Given the description of an element on the screen output the (x, y) to click on. 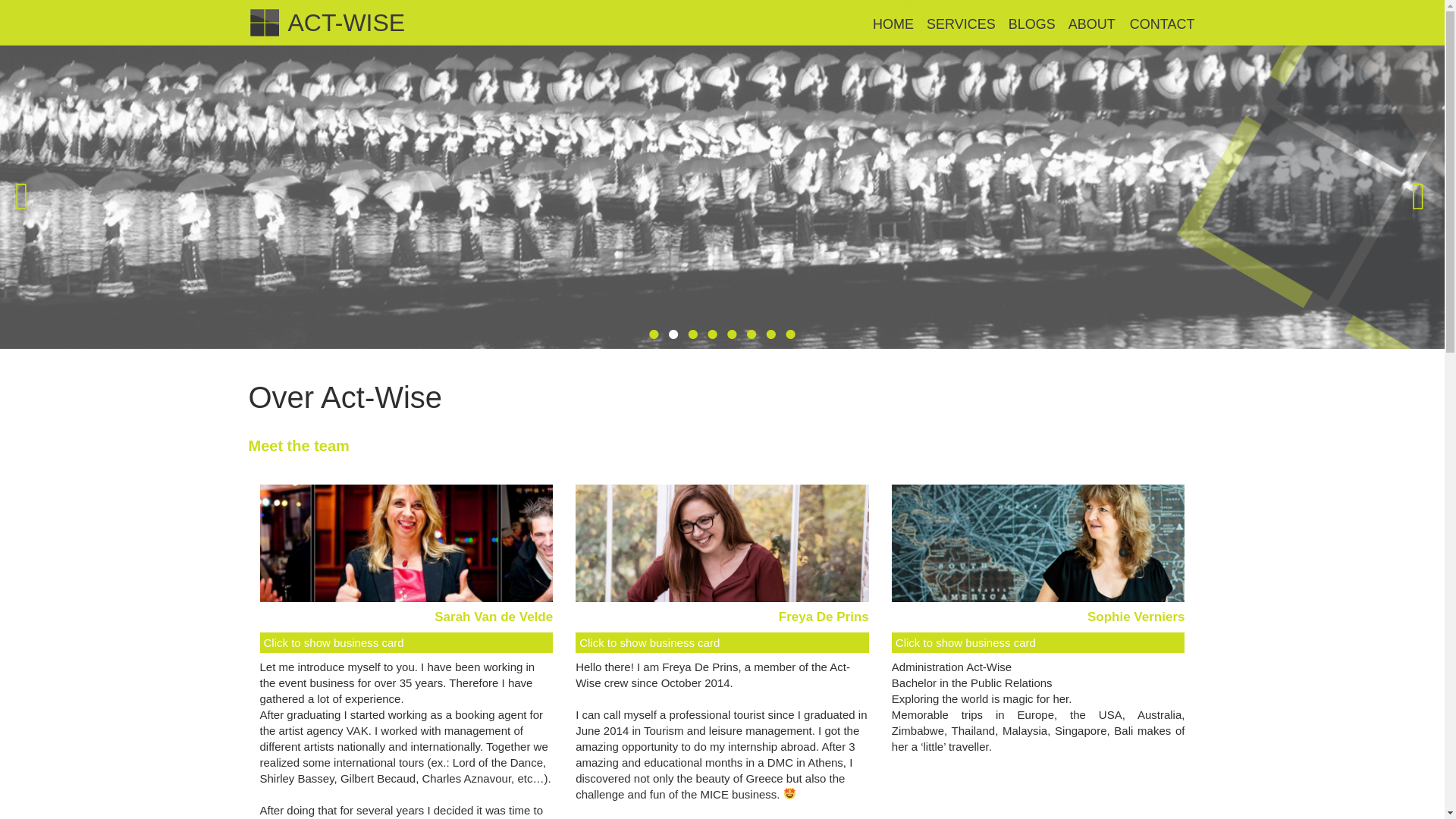
HOME Element type: text (892, 24)
ABOUT Element type: text (1092, 24)
CONTACT Element type: text (1162, 24)
BLOGS Element type: text (1031, 24)
SERVICES Element type: text (960, 24)
